Given the description of an element on the screen output the (x, y) to click on. 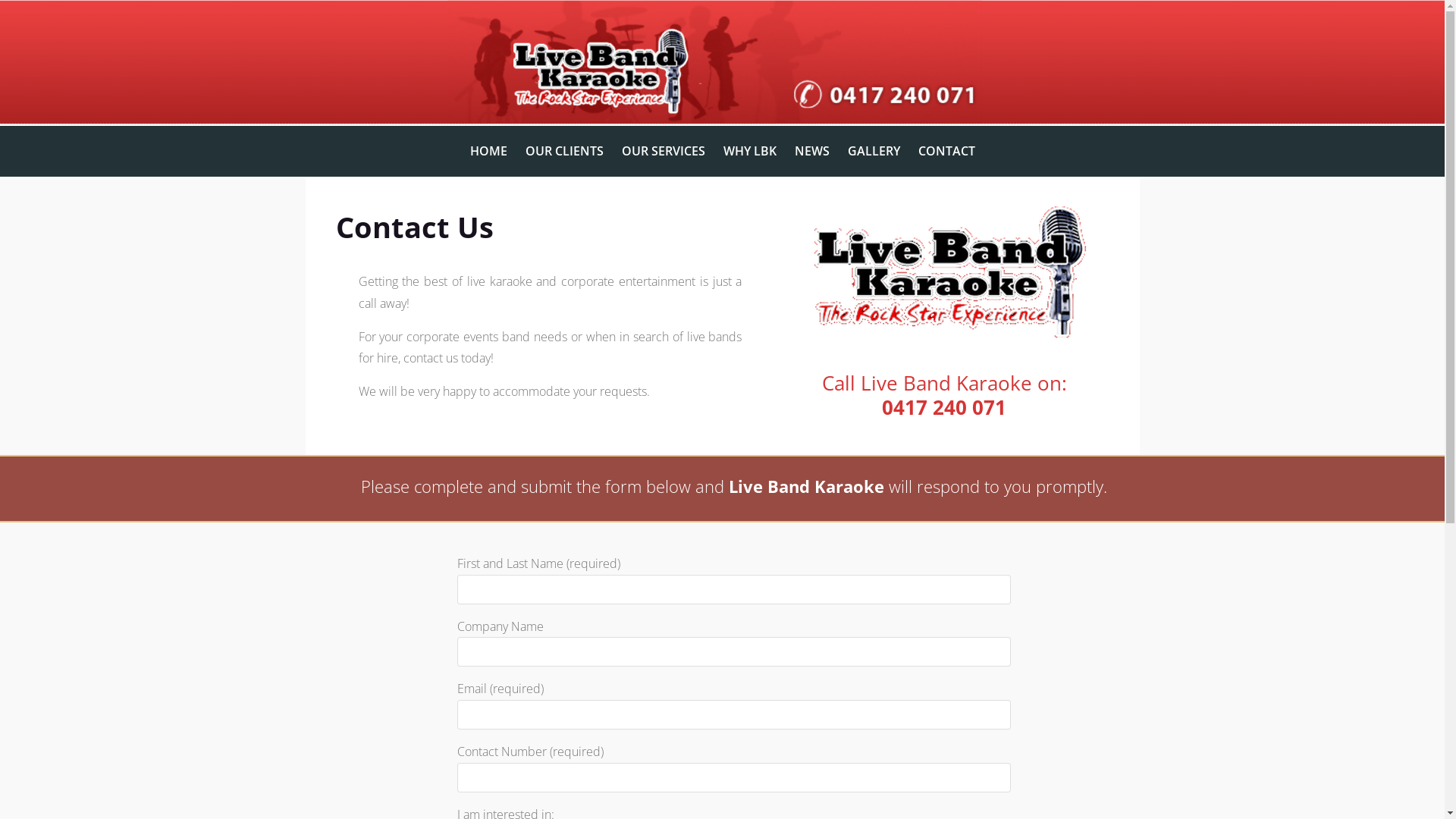
CONTACT Element type: text (946, 150)
OUR CLIENTS Element type: text (563, 150)
OUR SERVICES Element type: text (663, 150)
GALLERY Element type: text (873, 150)
HOME Element type: text (488, 150)
WHY LBK Element type: text (749, 150)
NEWS Element type: text (812, 150)
